Given the description of an element on the screen output the (x, y) to click on. 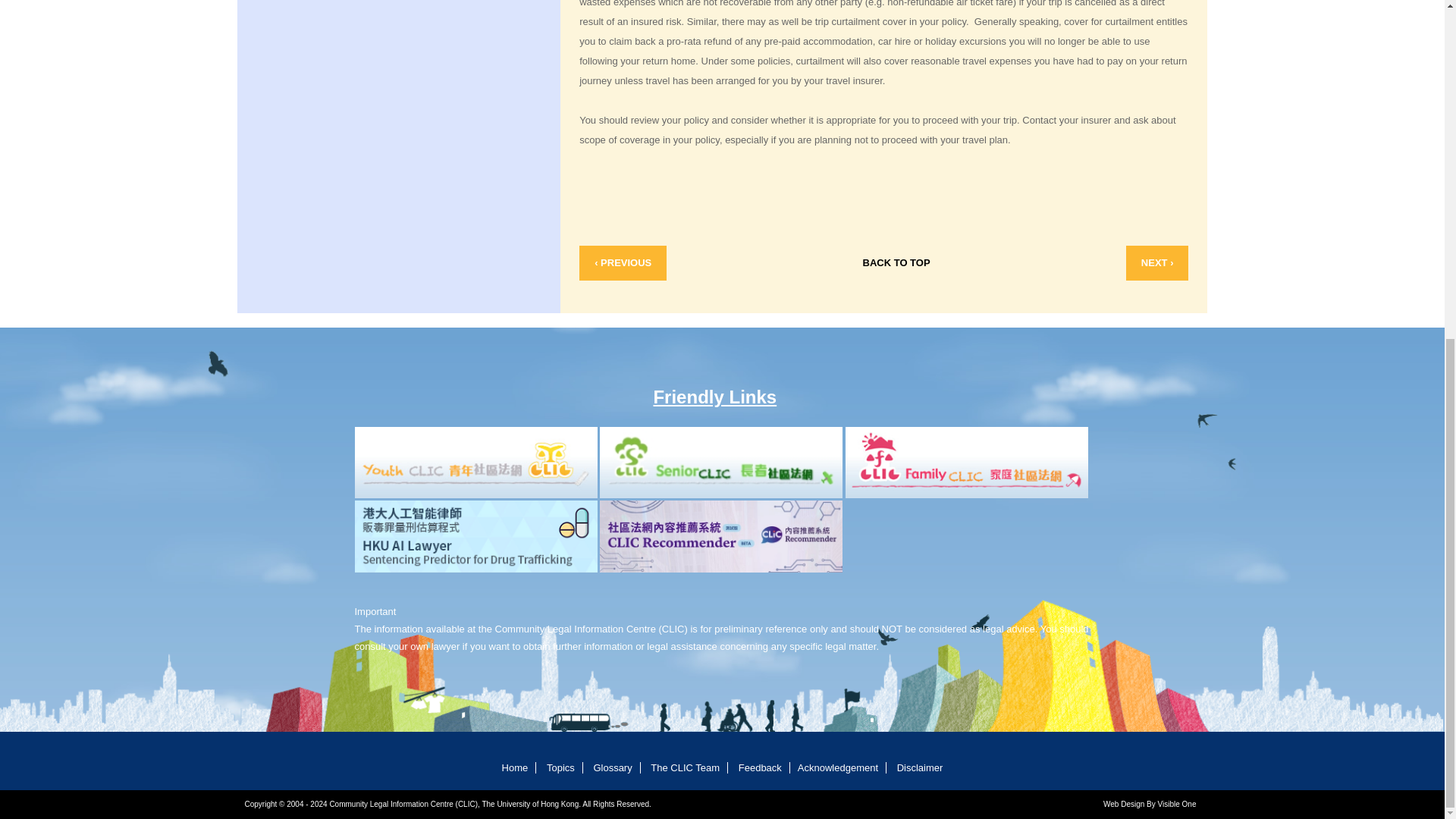
Go to parent page (895, 262)
Go to previous page (622, 262)
Go to next page (1157, 262)
BACK TO TOP (895, 262)
